Given the description of an element on the screen output the (x, y) to click on. 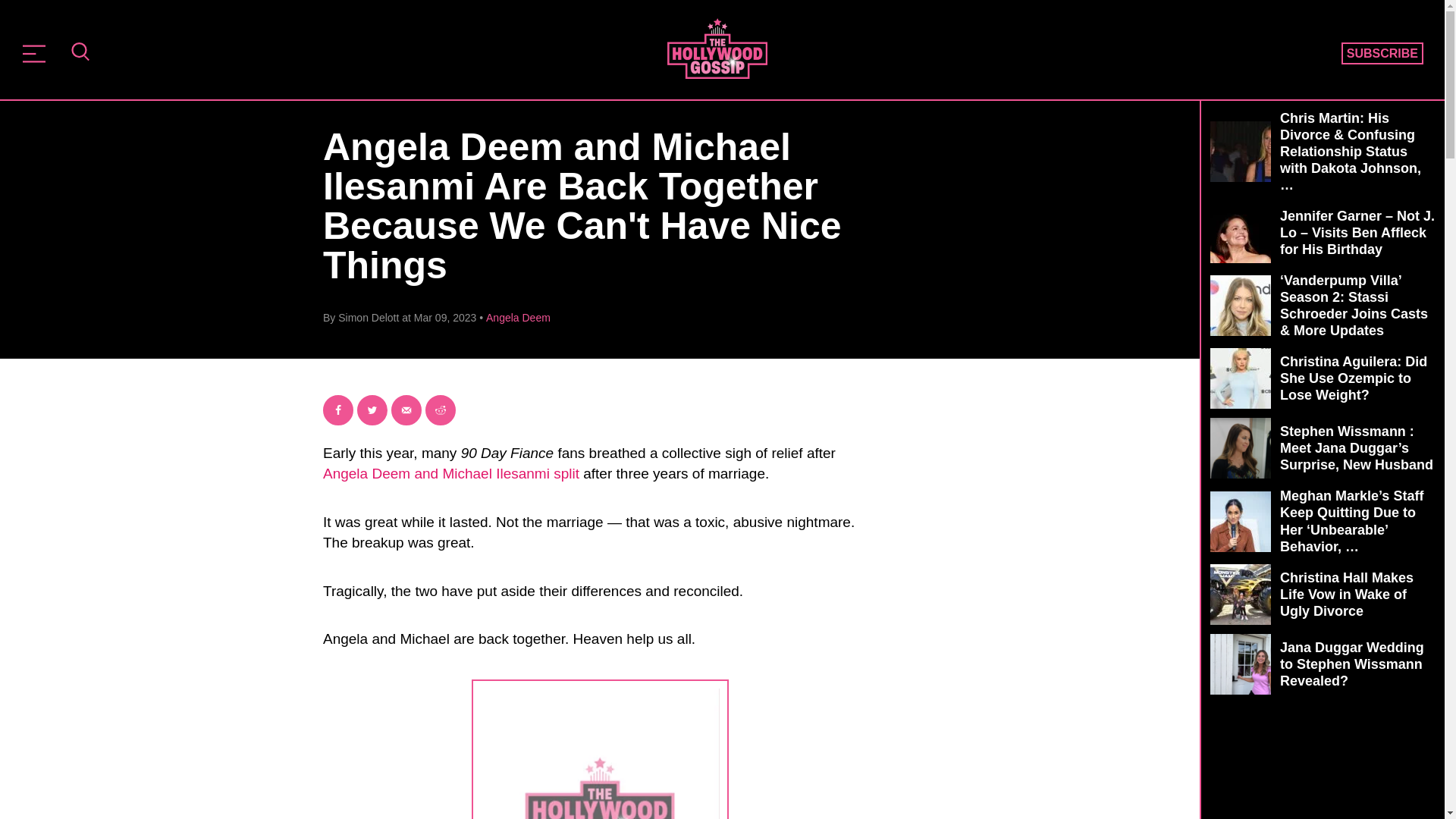
Christina Aguilera: Did She Use Ozempic to Lose Weight? (1322, 378)
Christina Hall Makes Life Vow in Wake of Ugly Divorce (1322, 594)
Share on Facebook (338, 409)
SUBSCRIBE (1381, 53)
SEARCH (79, 53)
Angela Deem (518, 317)
Jana Duggar Wedding to Stephen Wissmann Revealed? (1322, 663)
Share on Twitter (371, 409)
The Hollywood Gossip (716, 48)
Send over email (406, 409)
